Given the description of an element on the screen output the (x, y) to click on. 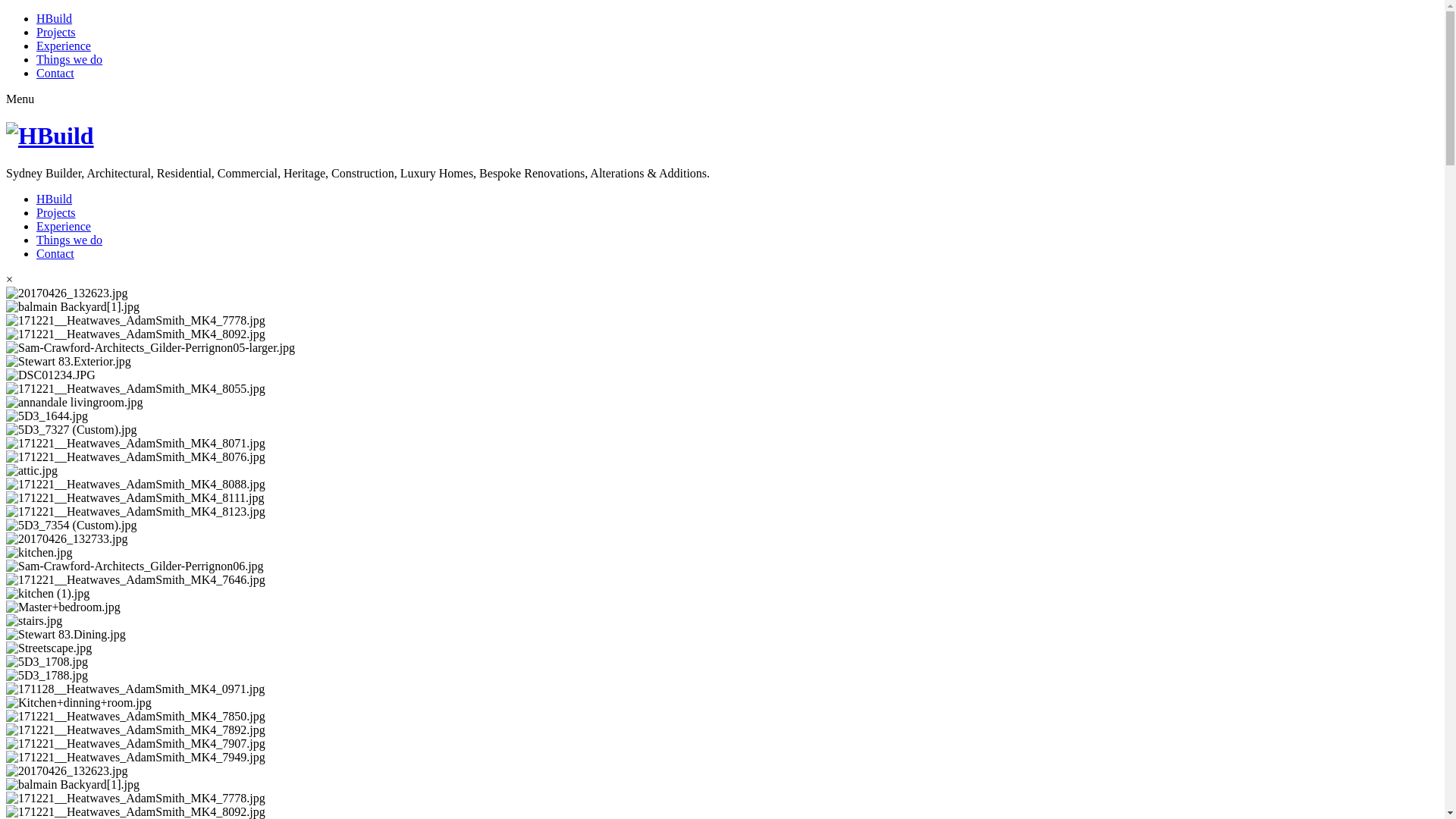
Menu Element type: text (20, 98)
Projects Element type: text (55, 31)
Things we do Element type: text (69, 59)
Things we do Element type: text (69, 239)
Projects Element type: text (55, 212)
HBuild Element type: text (54, 18)
Experience Element type: text (63, 45)
Contact Element type: text (55, 253)
Experience Element type: text (63, 225)
HBuild Element type: text (54, 198)
Contact Element type: text (55, 72)
